Given the description of an element on the screen output the (x, y) to click on. 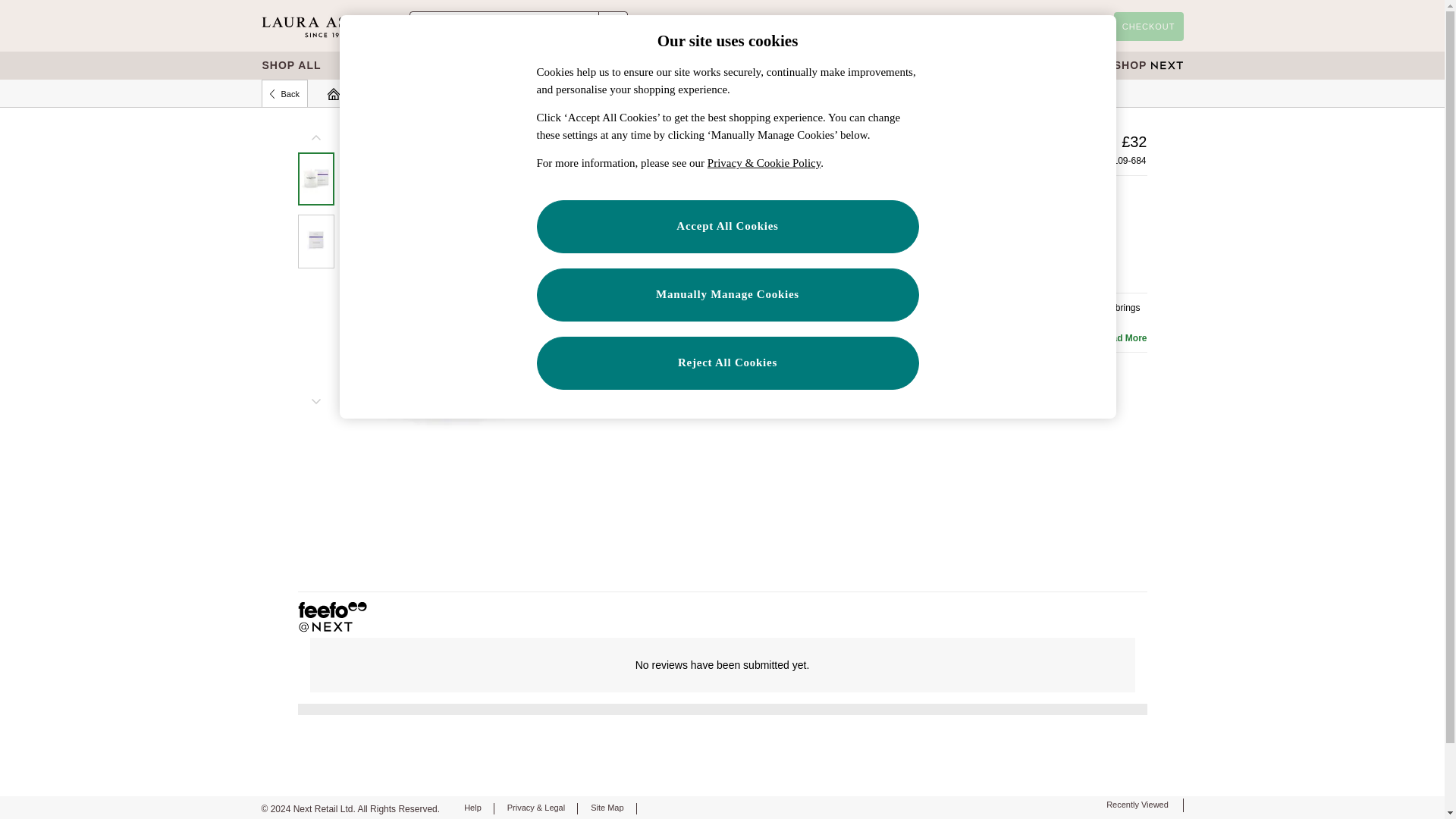
Back (283, 93)
SHOP ALL (291, 65)
Read More (1121, 338)
CHECKOUT (1148, 26)
My Account (964, 27)
ACCESSORIES (962, 65)
FASHION (407, 65)
SHOP ALL (291, 65)
FURNISHINGS (817, 65)
FASHION (407, 65)
